Given the description of an element on the screen output the (x, y) to click on. 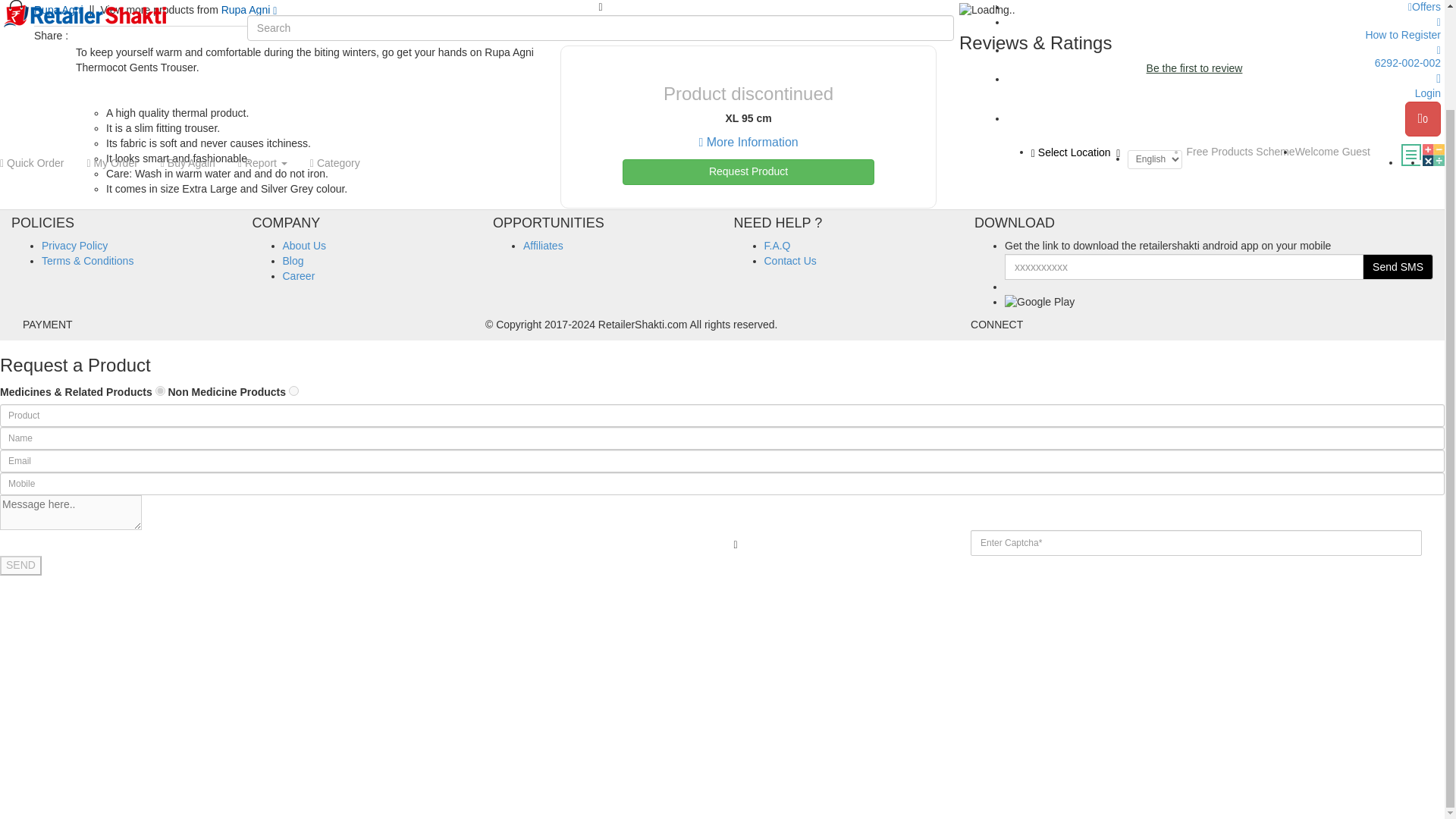
Rupa Agni (57, 9)
Rupa Agni (249, 9)
Rupa Agni  (249, 9)
 Select Location   (1079, 36)
O (293, 390)
Report (262, 46)
Category (334, 46)
My Order (111, 46)
Rupa Agni (57, 9)
Free Products Scheme (1240, 35)
Quick Order (37, 46)
Welcome Guest (1332, 35)
0 (1423, 10)
Buy Again (188, 46)
Loading.. (986, 10)
